Given the description of an element on the screen output the (x, y) to click on. 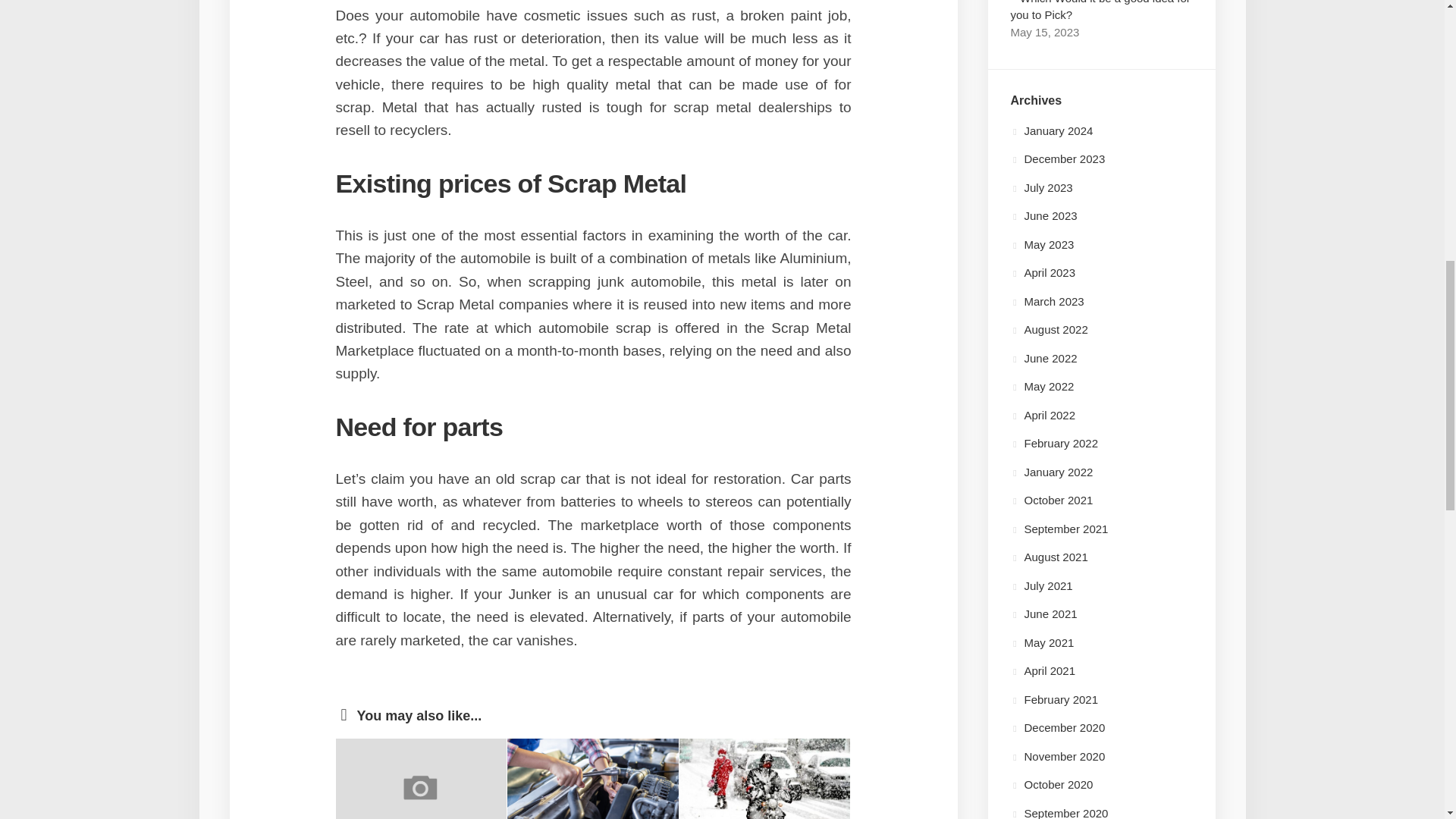
January 2024 (1051, 130)
July 2023 (1040, 187)
December 2023 (1057, 158)
June 2023 (1043, 215)
May 2023 (1042, 244)
